Given the description of an element on the screen output the (x, y) to click on. 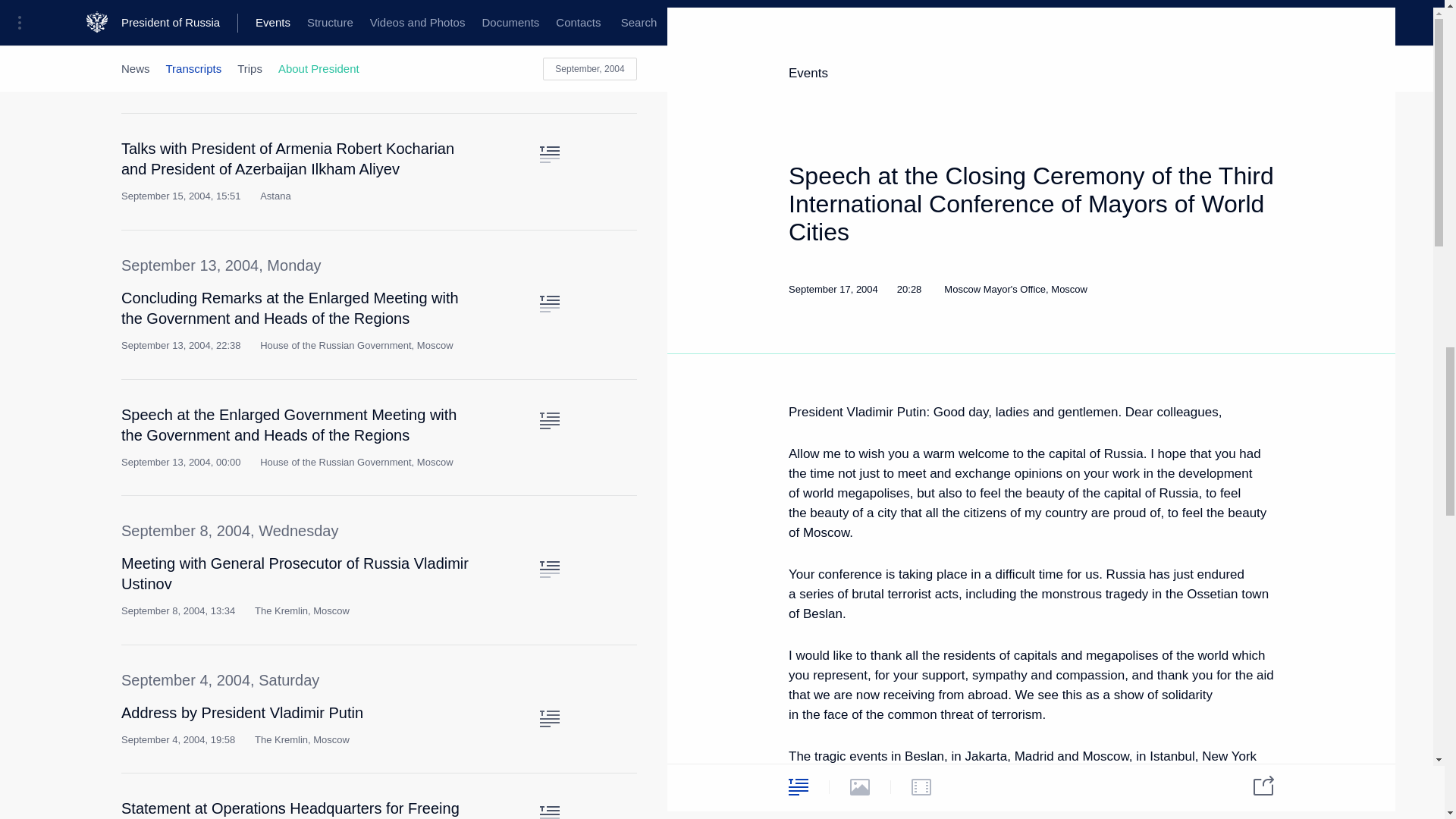
Text of the article (549, 154)
Text of the article (549, 420)
Text of the article (549, 569)
Text of the article (549, 17)
Text of the article (549, 718)
Text of the article (549, 303)
